Given the description of an element on the screen output the (x, y) to click on. 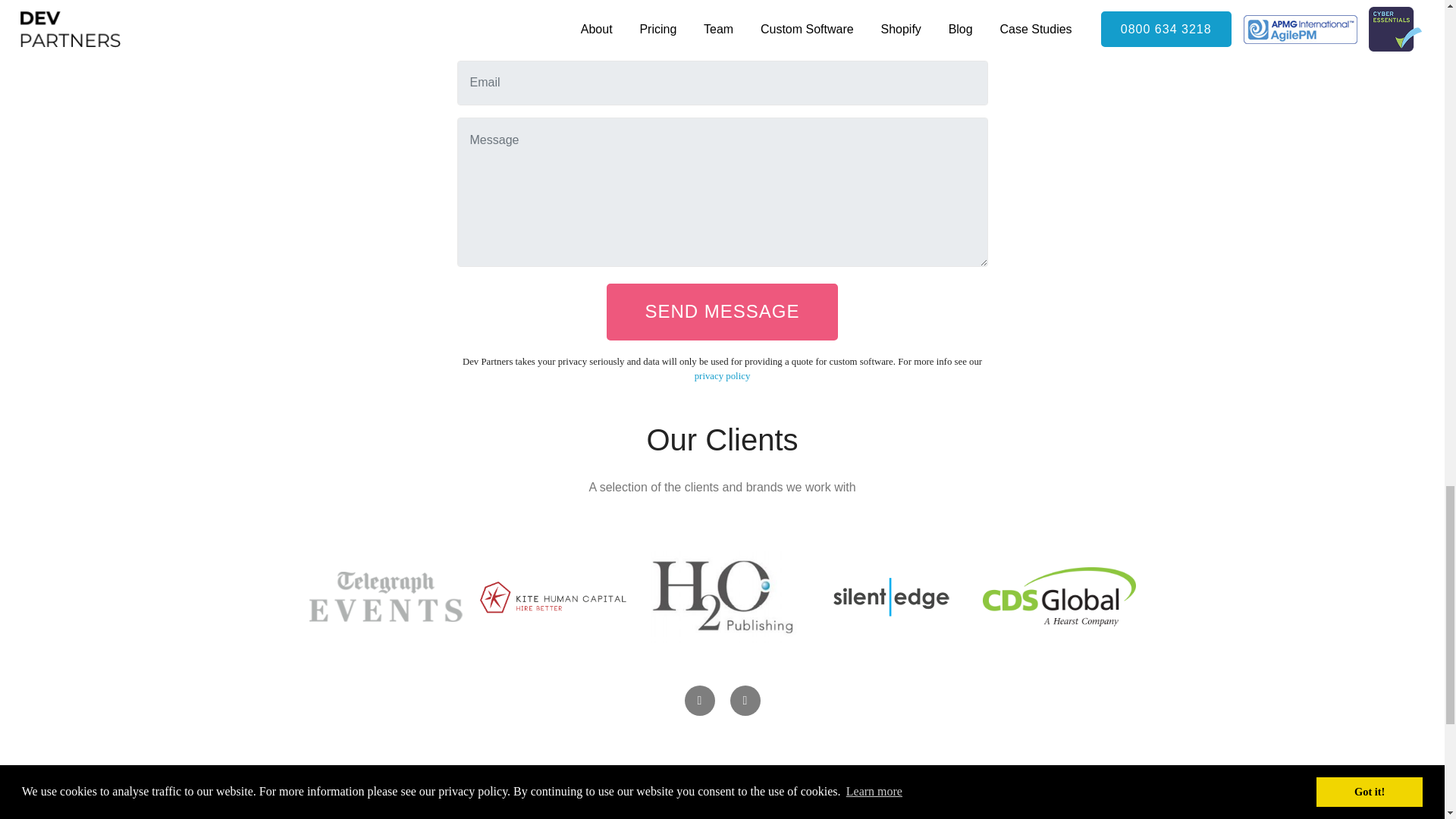
privacy policy (722, 376)
Custom Software Written for H2O Publishing (722, 596)
Next (744, 700)
Previous (699, 700)
SEND MESSAGE (722, 311)
Custom Software Written for Kite Recruitment (553, 596)
Custom Software Written for CDS Global (1058, 596)
Custom Software Written for Telegraph Media Group (385, 596)
Custom Software Written for Silent Edge (890, 596)
